Given the description of an element on the screen output the (x, y) to click on. 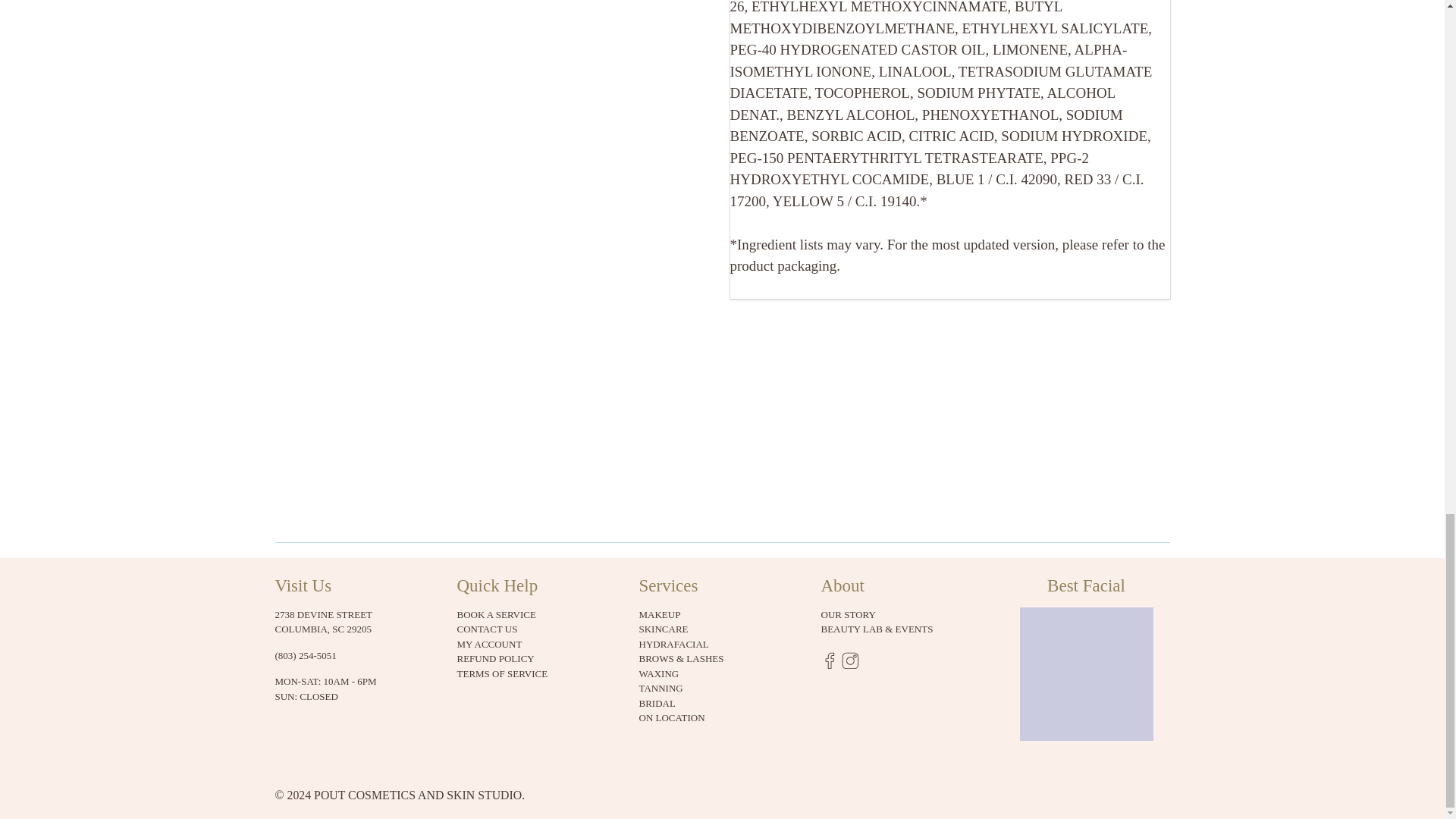
POUT Cosmetics and Skin Studio on Facebook (829, 665)
POUT Cosmetics and Skin Studio on Instagram (850, 665)
Best Facial in Columbia, SC (1086, 681)
